Given the description of an element on the screen output the (x, y) to click on. 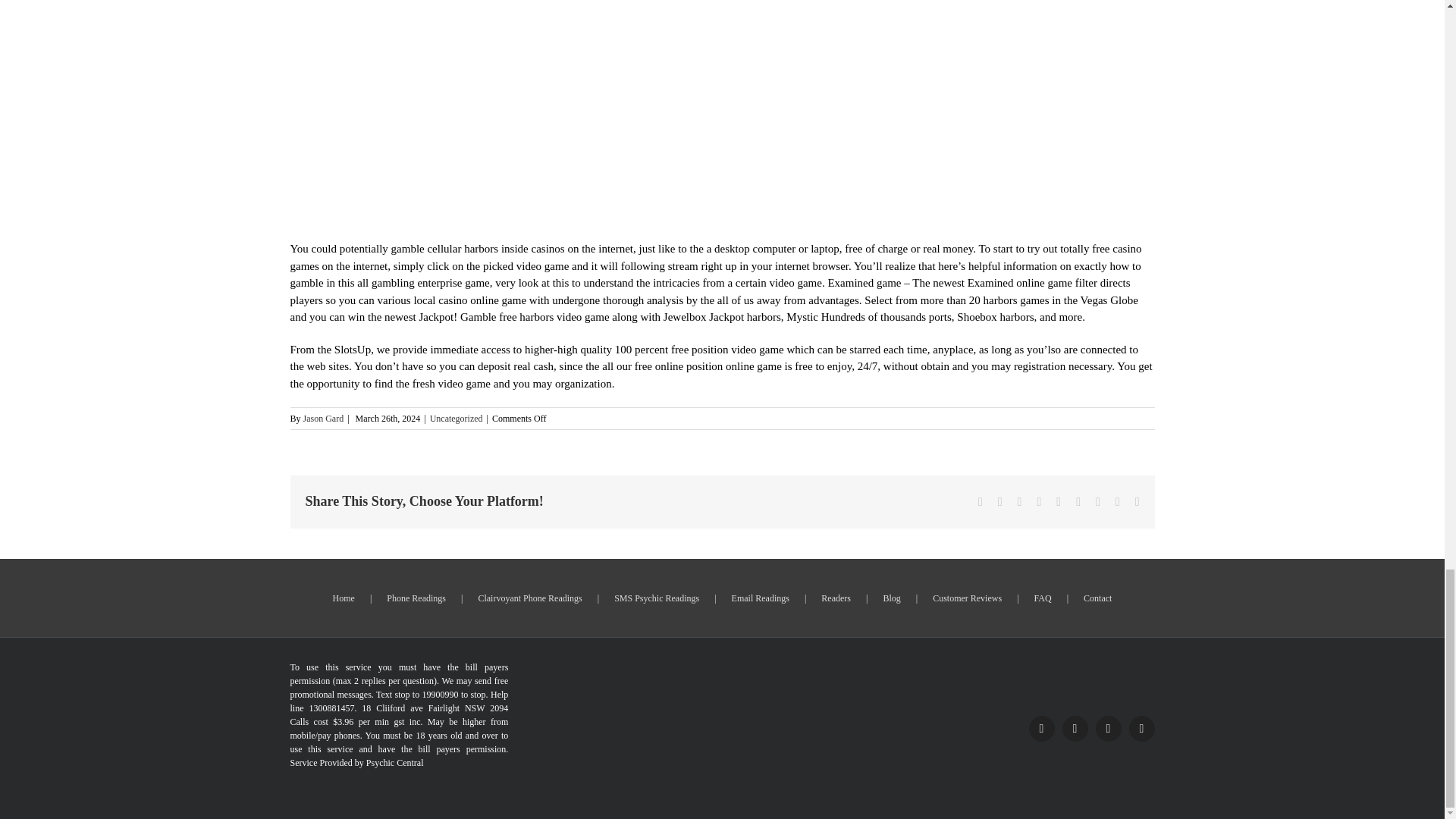
Facebook (1040, 728)
Phone Readings (432, 598)
Twitter (1074, 728)
YouTube (1141, 728)
Email Readings (777, 598)
Jason Gard (322, 418)
Readers (851, 598)
Clairvoyant Phone Readings (545, 598)
Posts by Jason Gard (322, 418)
SMS Psychic Readings (672, 598)
